Given the description of an element on the screen output the (x, y) to click on. 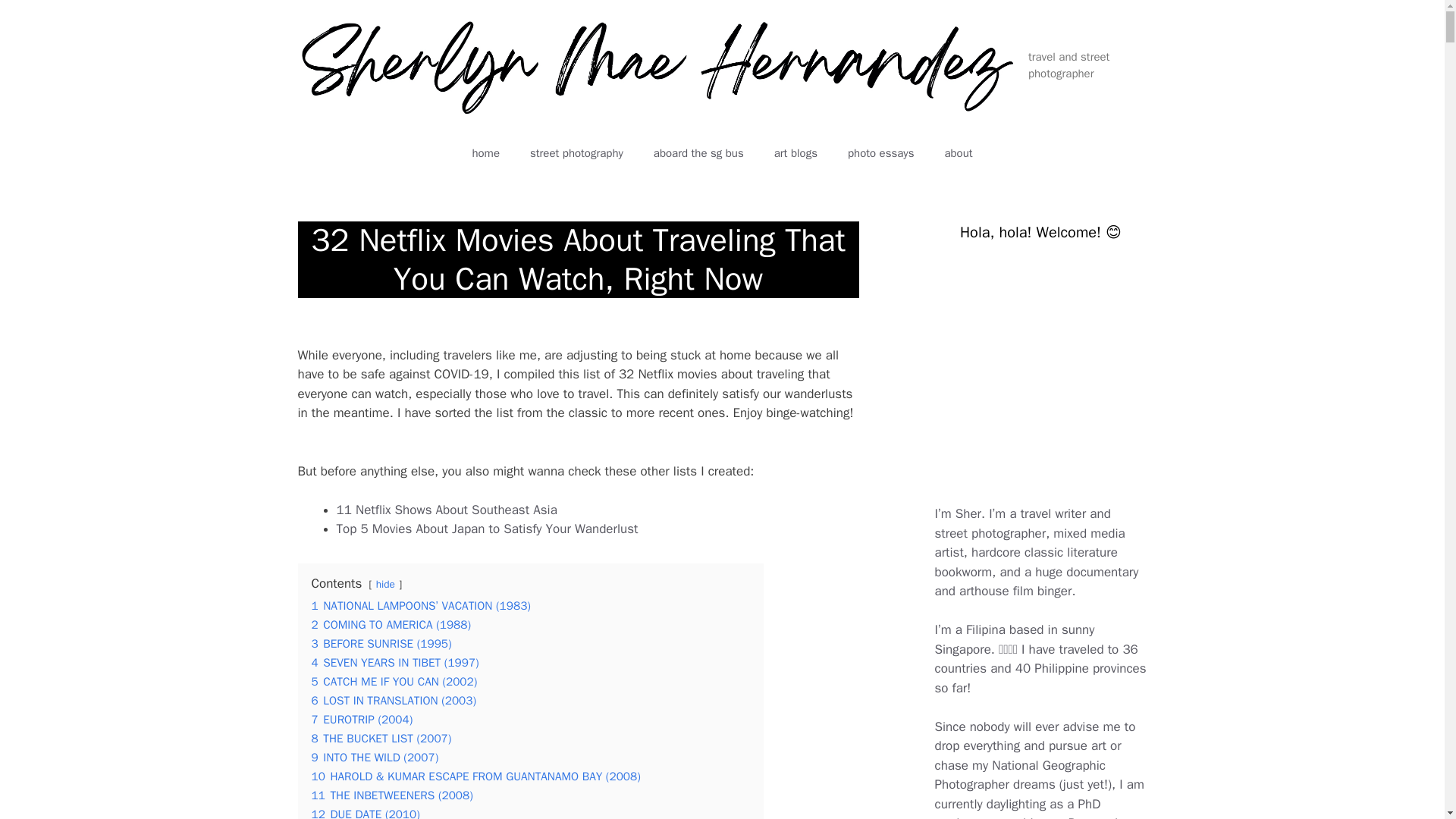
aboard the sg bus (698, 153)
hide (384, 584)
about (957, 153)
11 Netflix Shows About Southeast Asia (446, 509)
home (486, 153)
Top 5 Movies About Japan to Satisfy Your Wanderlust (487, 528)
art blogs (795, 153)
street photography (577, 153)
photo essays (880, 153)
